Given the description of an element on the screen output the (x, y) to click on. 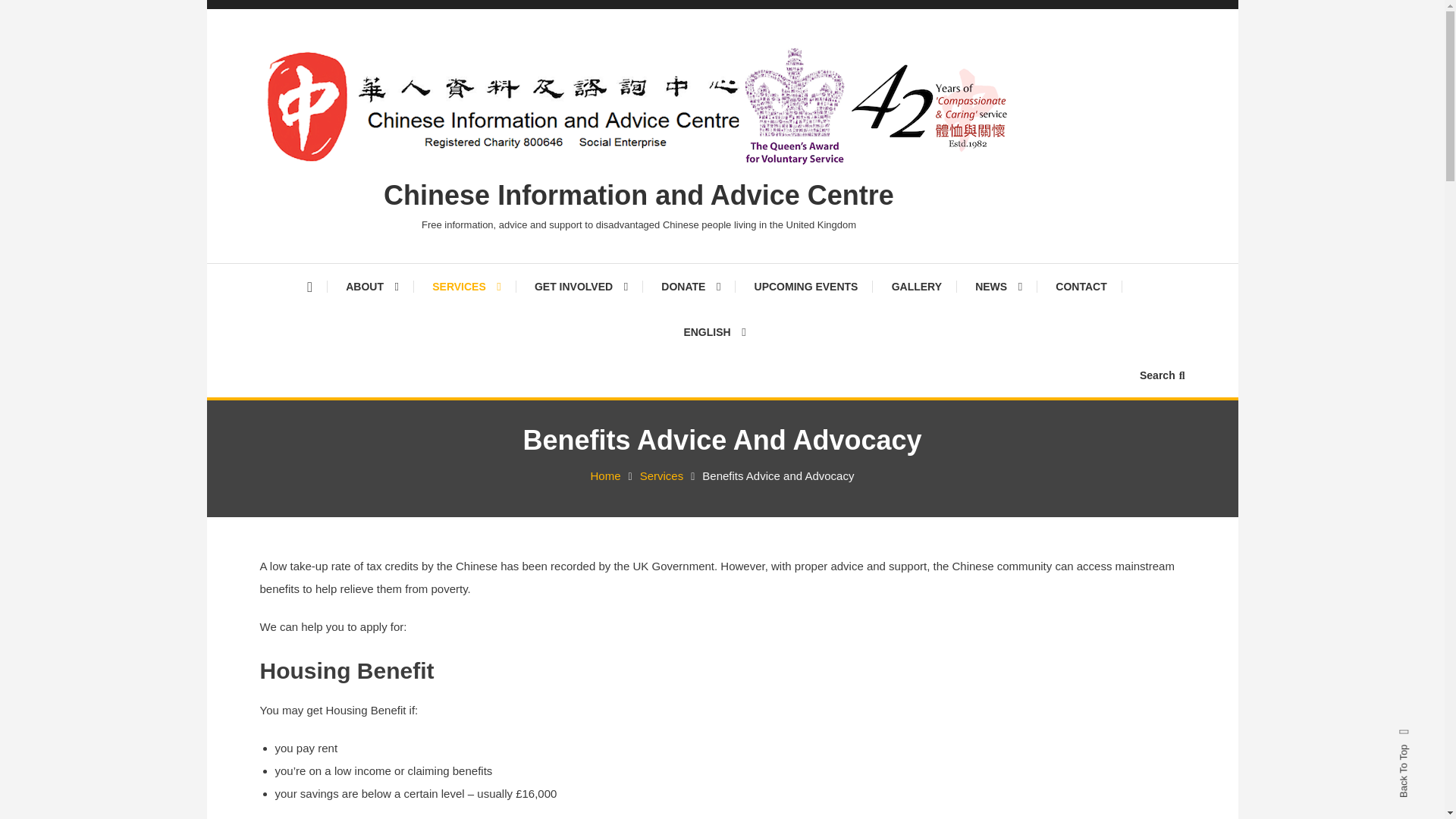
ENGLISH (714, 331)
English (714, 331)
CONTACT (1081, 286)
NEWS (997, 286)
UPCOMING EVENTS (806, 286)
ABOUT (371, 286)
SERVICES (466, 286)
DONATE (690, 286)
GALLERY (916, 286)
GET INVOLVED (581, 286)
Chinese Information and Advice Centre (638, 194)
Search (1162, 375)
